Given the description of an element on the screen output the (x, y) to click on. 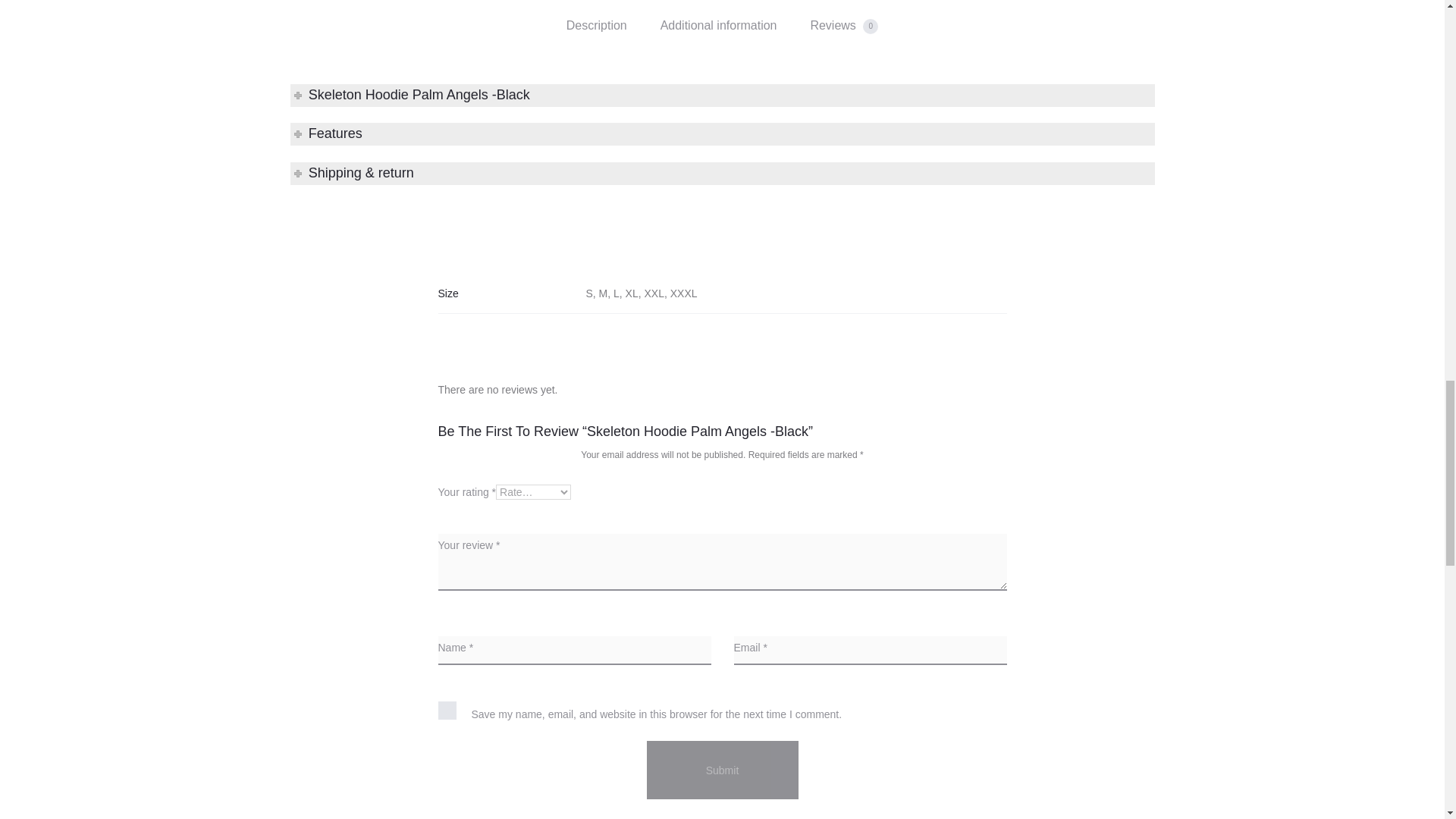
Description (596, 25)
Submit (721, 770)
Additional information (719, 25)
